Given the description of an element on the screen output the (x, y) to click on. 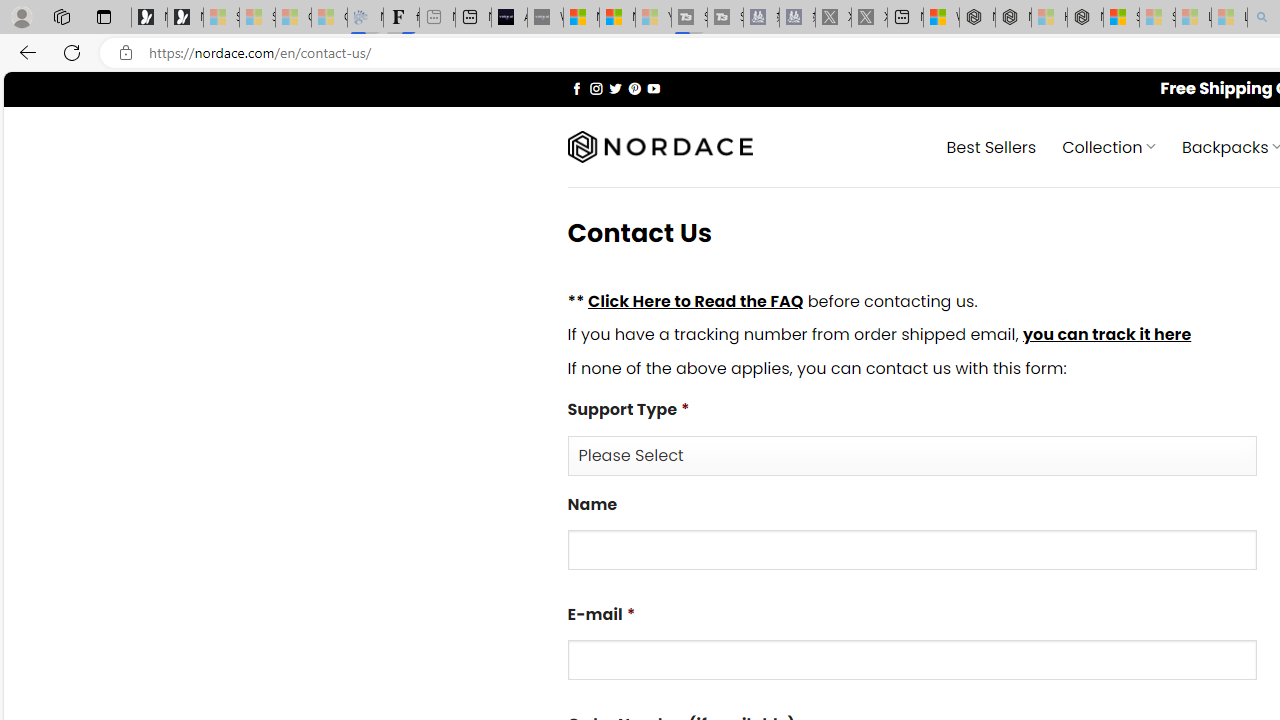
  Best Sellers (990, 146)
